Given the description of an element on the screen output the (x, y) to click on. 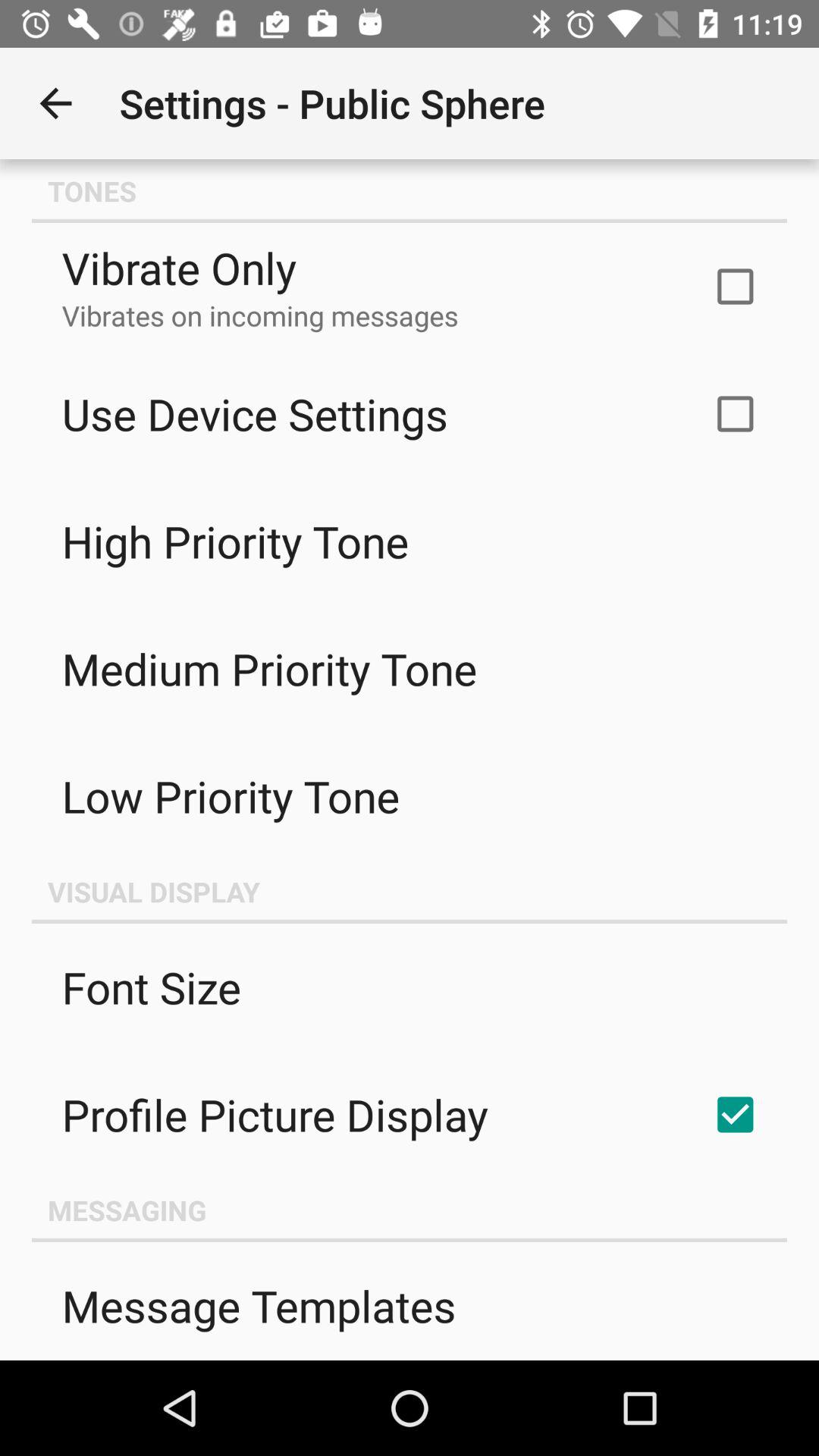
choose icon above the message templates (409, 1210)
